Given the description of an element on the screen output the (x, y) to click on. 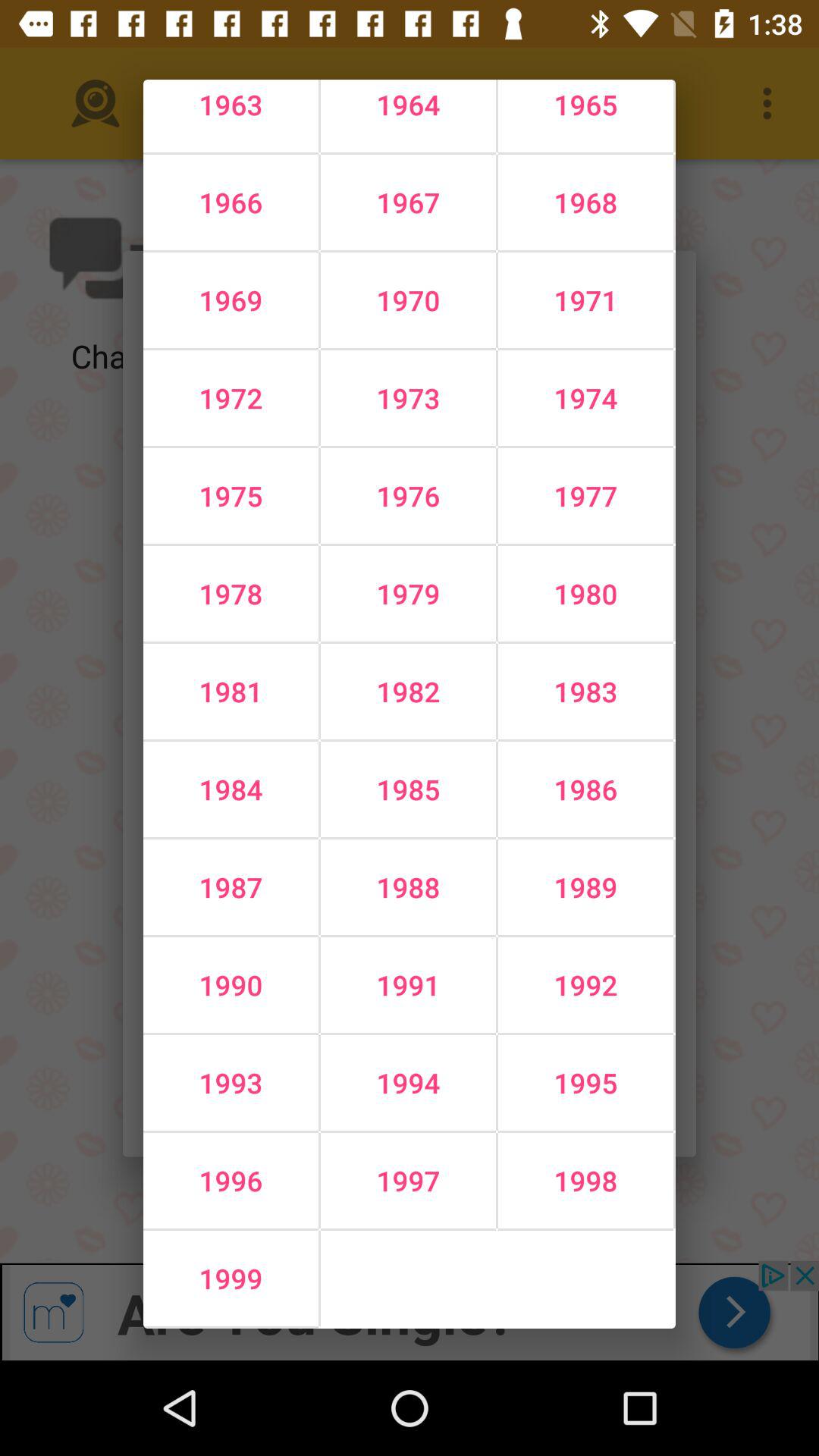
turn on the icon above the 1993 (407, 984)
